Given the description of an element on the screen output the (x, y) to click on. 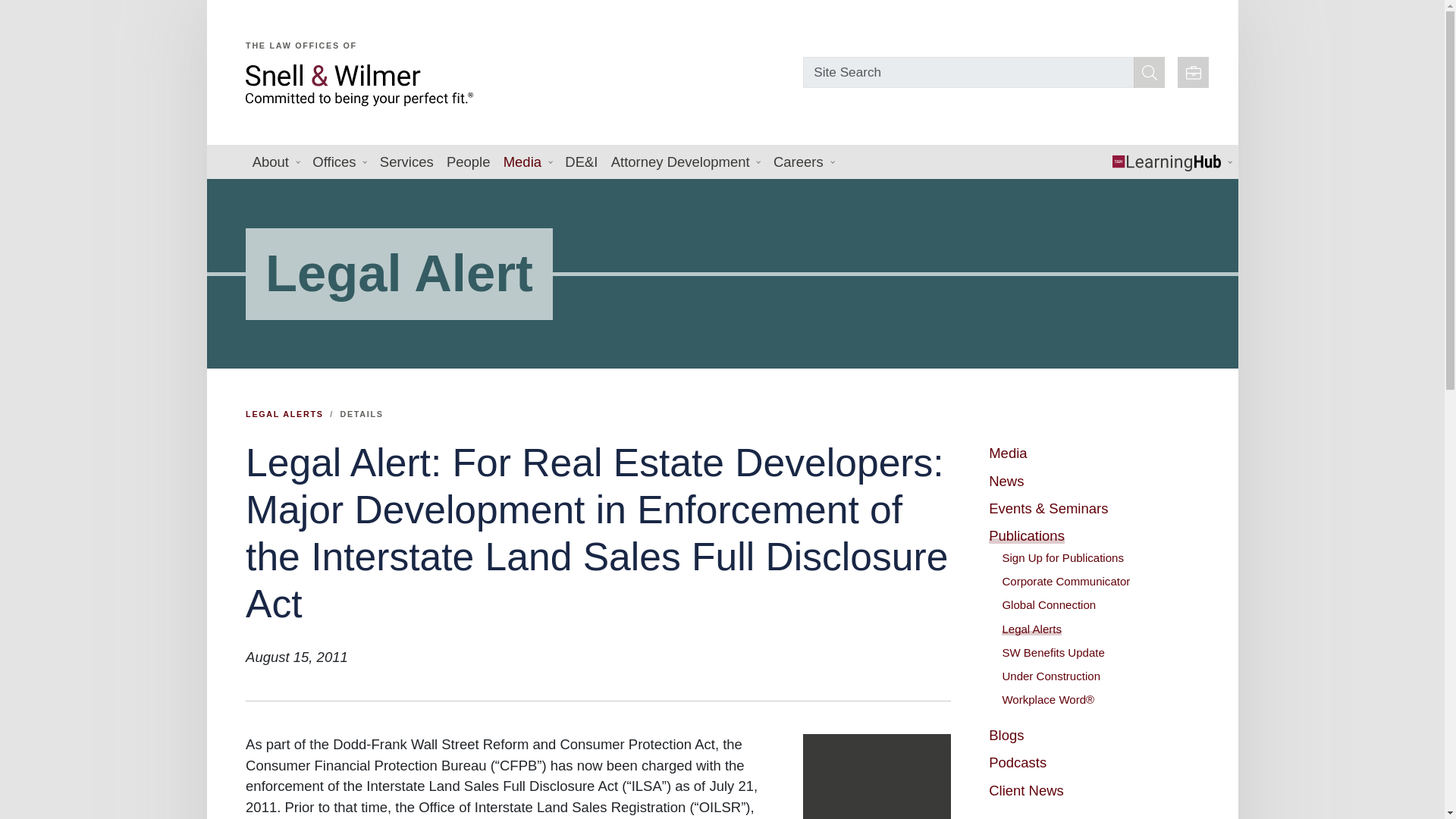
People (467, 161)
Media (527, 161)
About (275, 161)
THE LAW OFFICES OF (519, 66)
Offices (339, 161)
Services (405, 161)
SITE SEARCH (1149, 71)
